Given the description of an element on the screen output the (x, y) to click on. 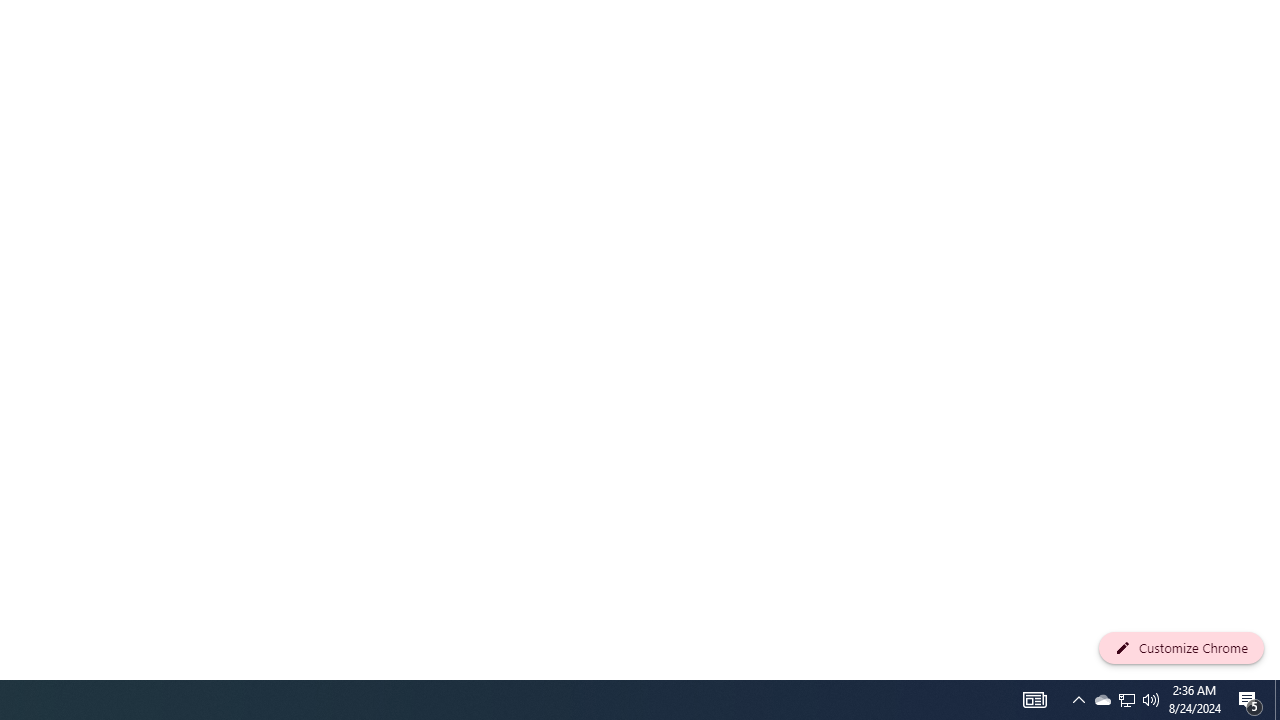
Customize Chrome (1181, 647)
